Given the description of an element on the screen output the (x, y) to click on. 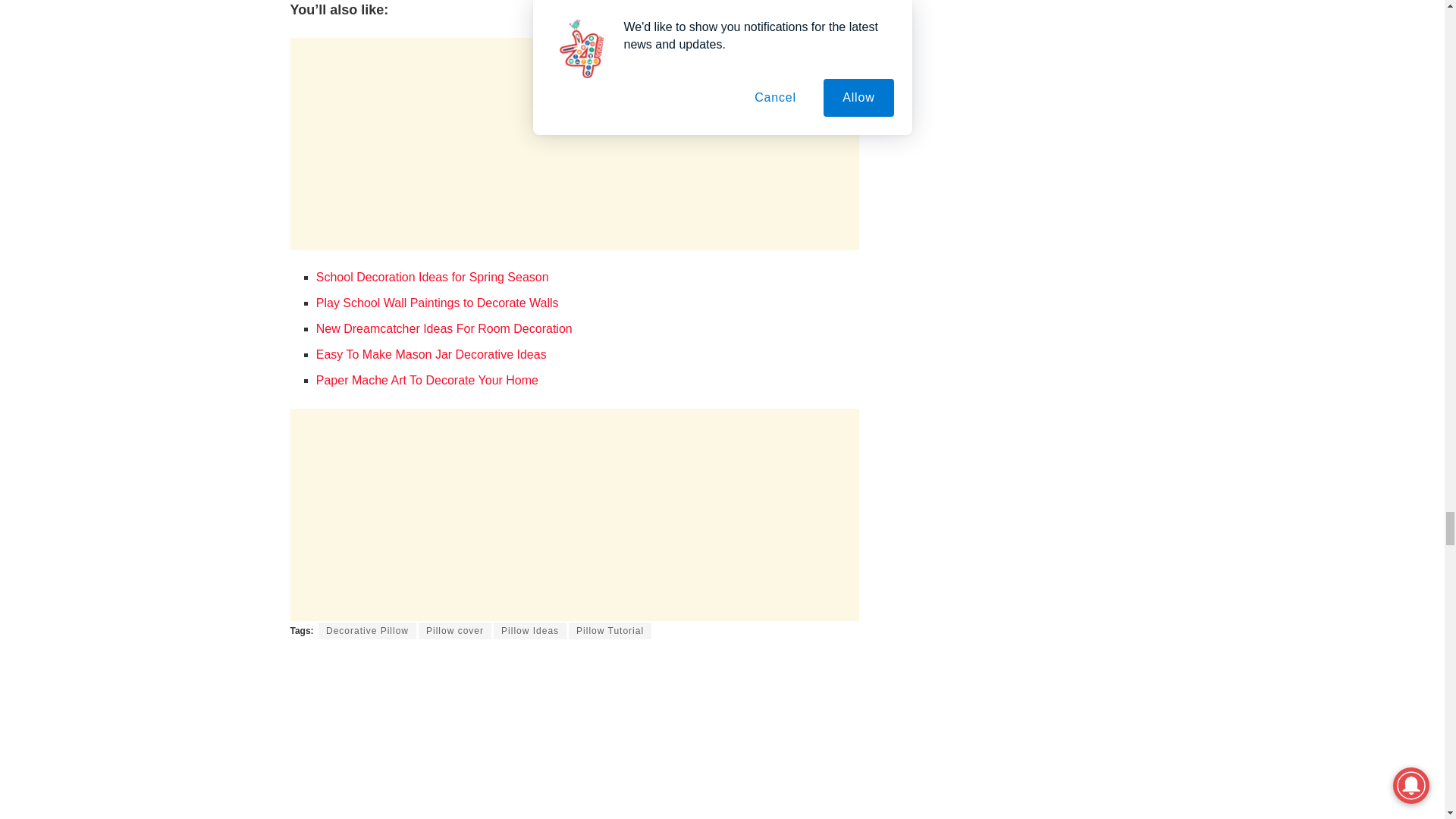
School Decoration Ideas for Spring Season (431, 277)
Play School Wall Paintings to Decorate Walls (437, 302)
